Given the description of an element on the screen output the (x, y) to click on. 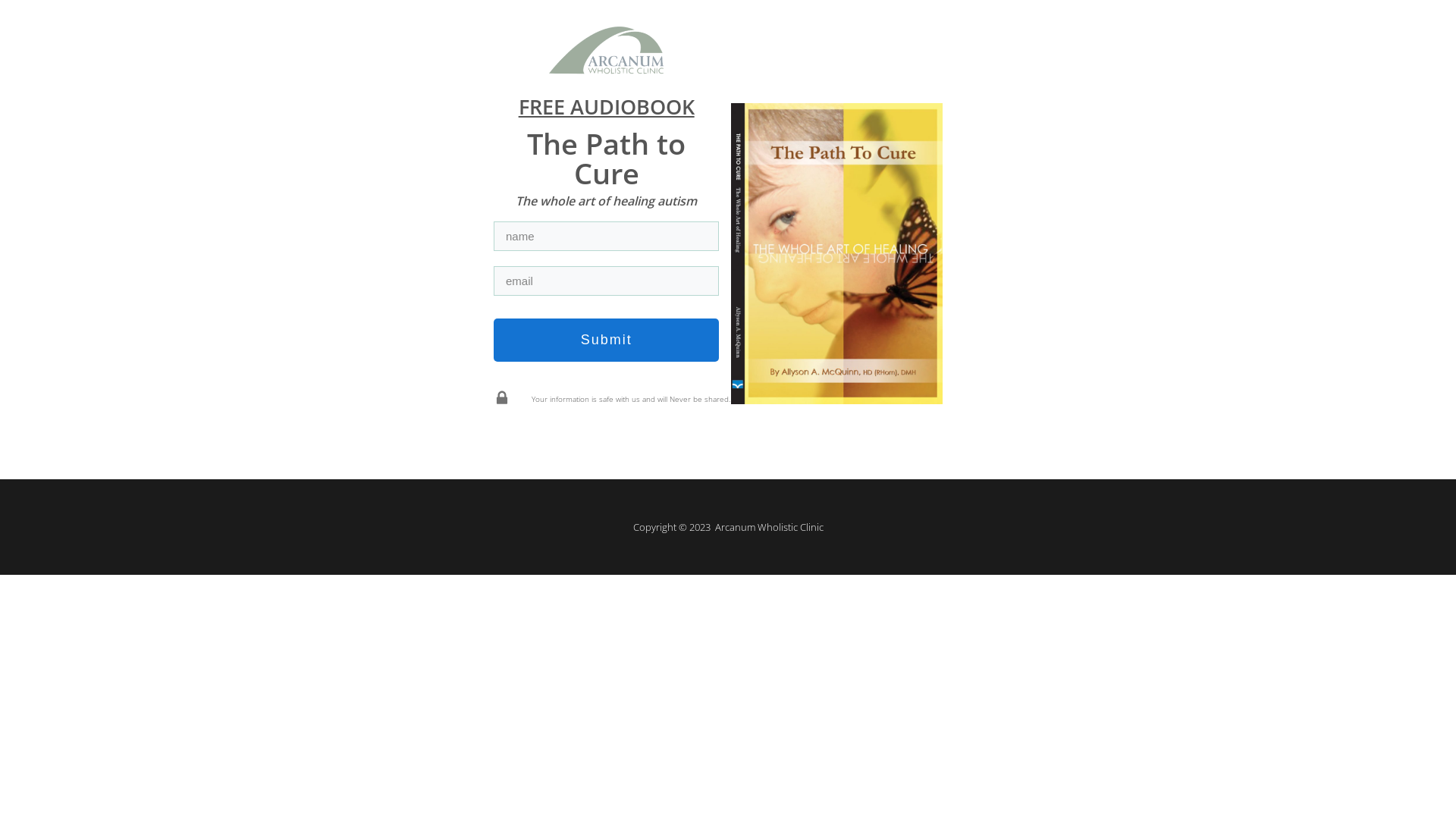
ARCANUM-LOGO copy Element type: hover (606, 50)
Submit Element type: text (605, 340)
PTC_cover_photo Element type: hover (836, 253)
